Given the description of an element on the screen output the (x, y) to click on. 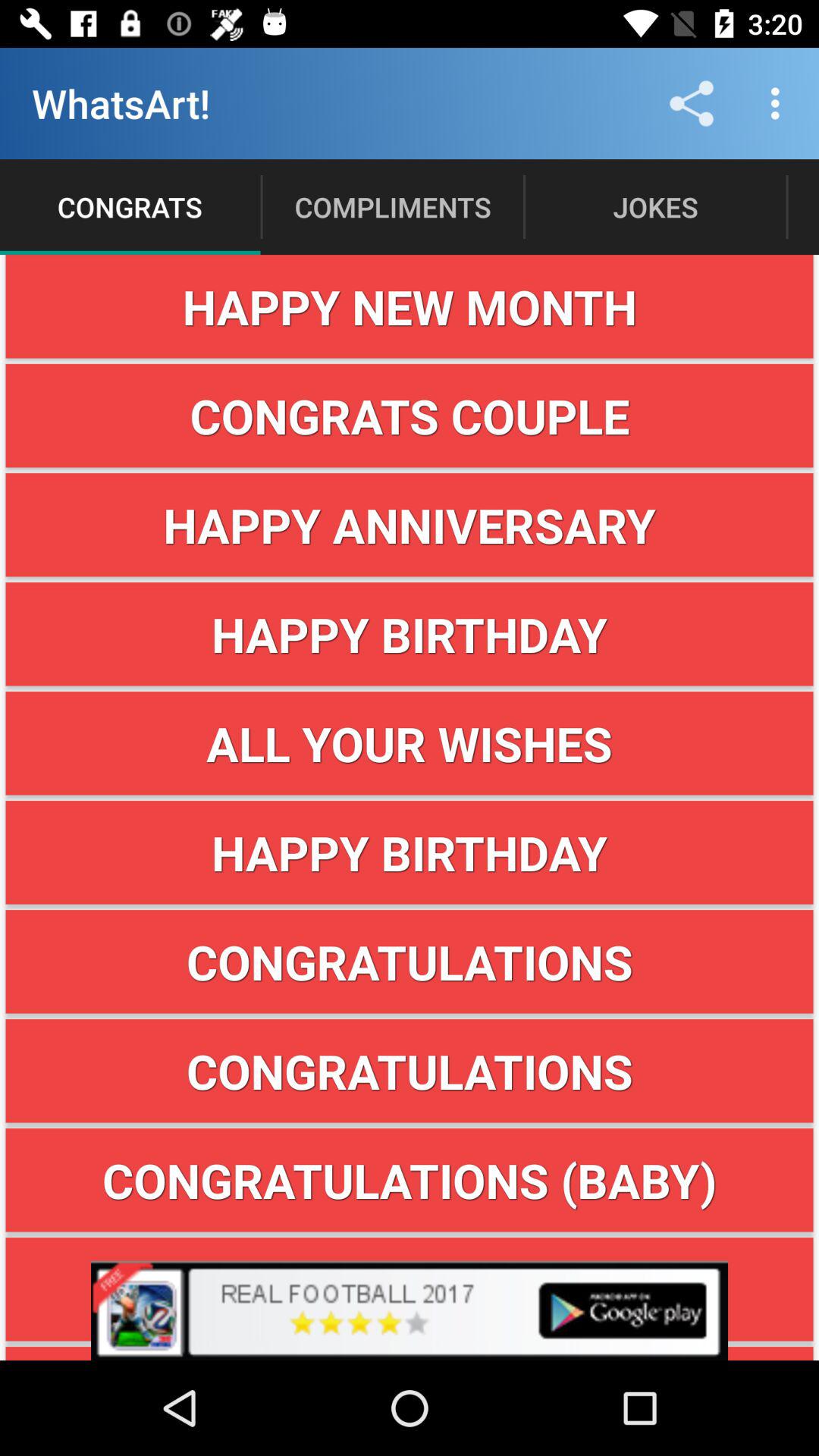
select the item above happy new month item (779, 103)
